Given the description of an element on the screen output the (x, y) to click on. 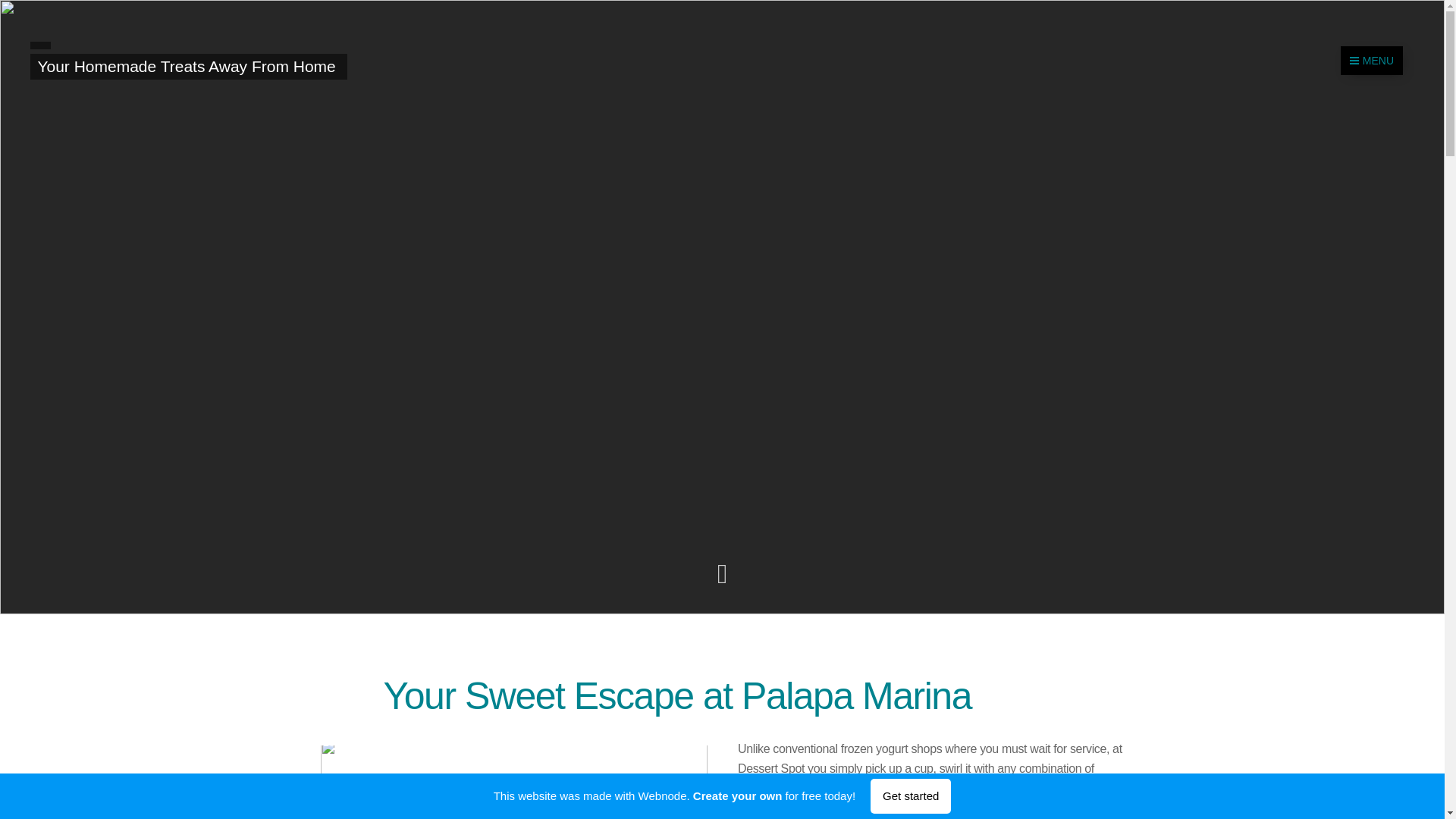
MENU (1371, 60)
